Given the description of an element on the screen output the (x, y) to click on. 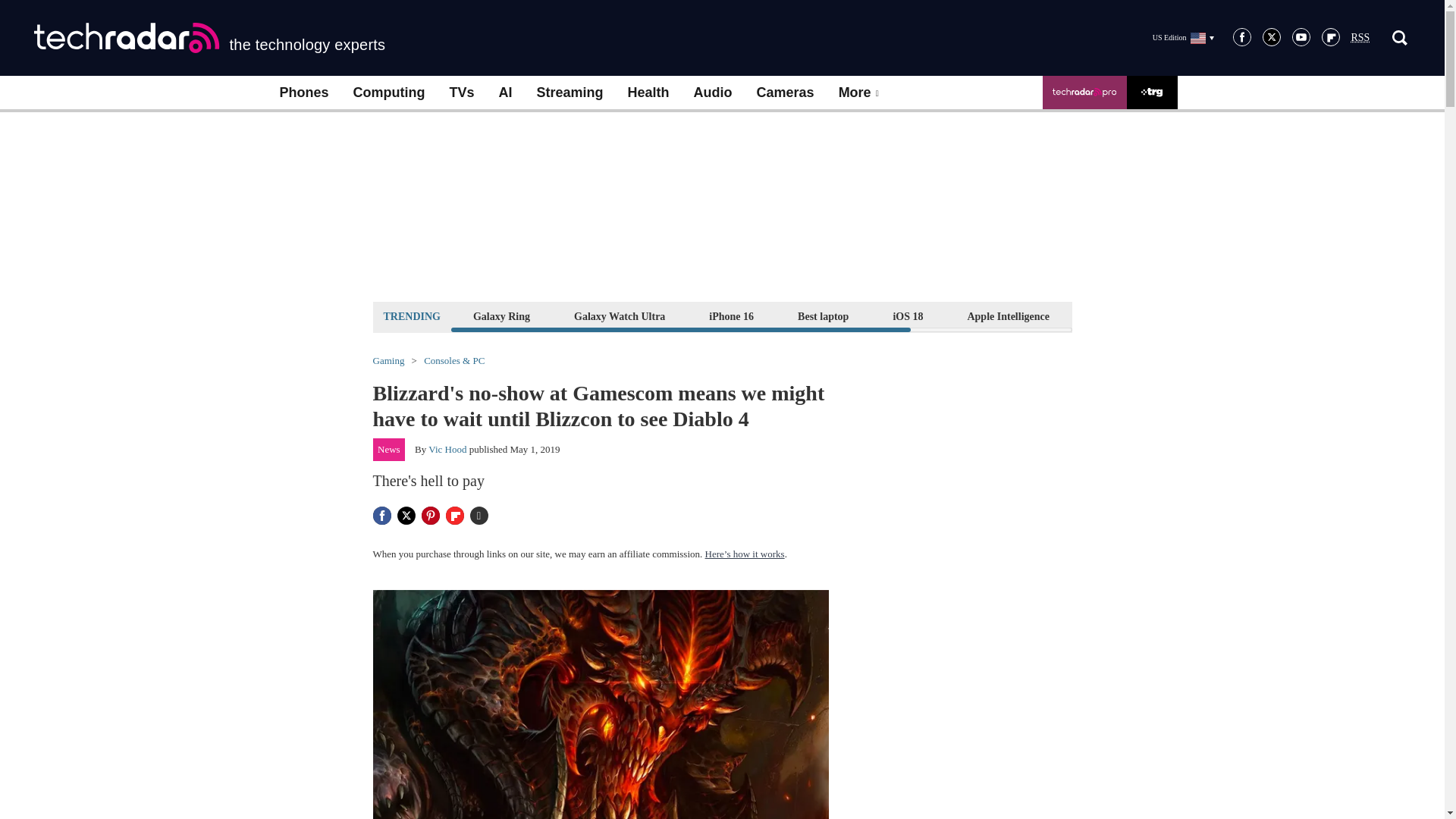
Computing (389, 92)
Health (648, 92)
Streaming (569, 92)
the technology experts (209, 38)
Really Simple Syndication (1360, 37)
US Edition (1182, 37)
TVs (461, 92)
Phones (303, 92)
Audio (712, 92)
Cameras (785, 92)
AI (505, 92)
